Given the description of an element on the screen output the (x, y) to click on. 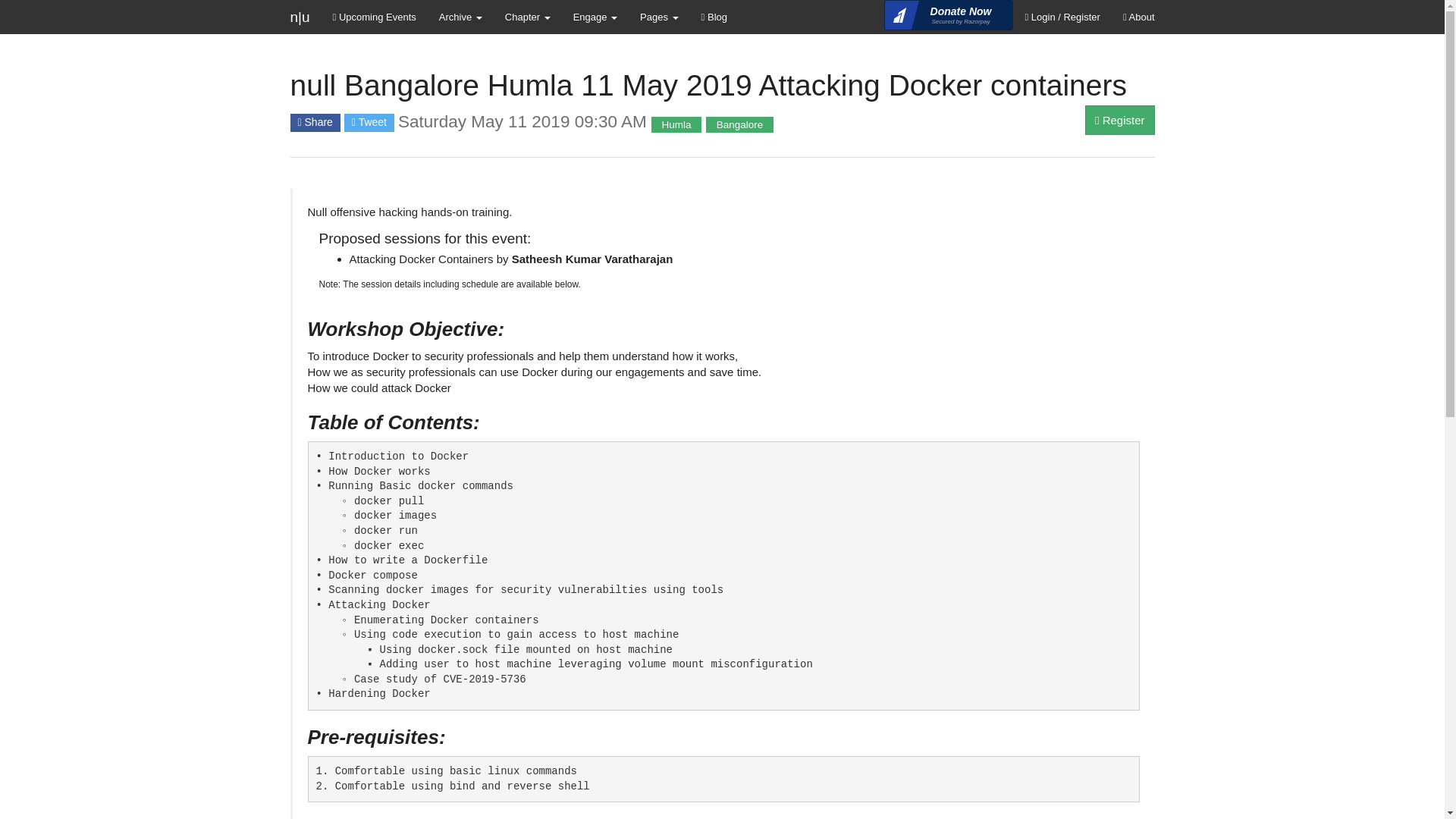
Blog (714, 17)
Upcoming Events (374, 17)
Tweet (368, 122)
Engage (595, 17)
Bangalore (739, 122)
Share (314, 122)
Chapter (527, 17)
Register (948, 15)
Archive (1119, 120)
